Given the description of an element on the screen output the (x, y) to click on. 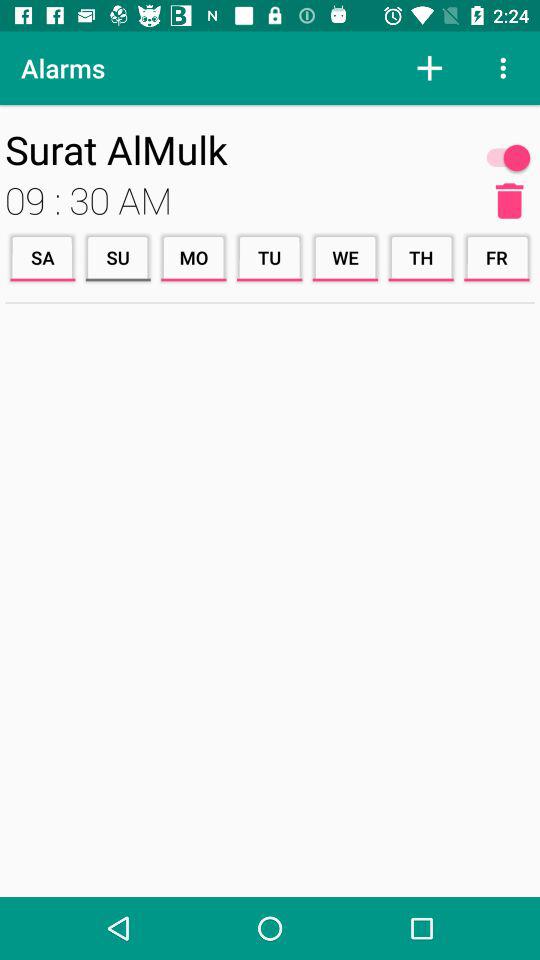
scroll until sa icon (42, 257)
